Given the description of an element on the screen output the (x, y) to click on. 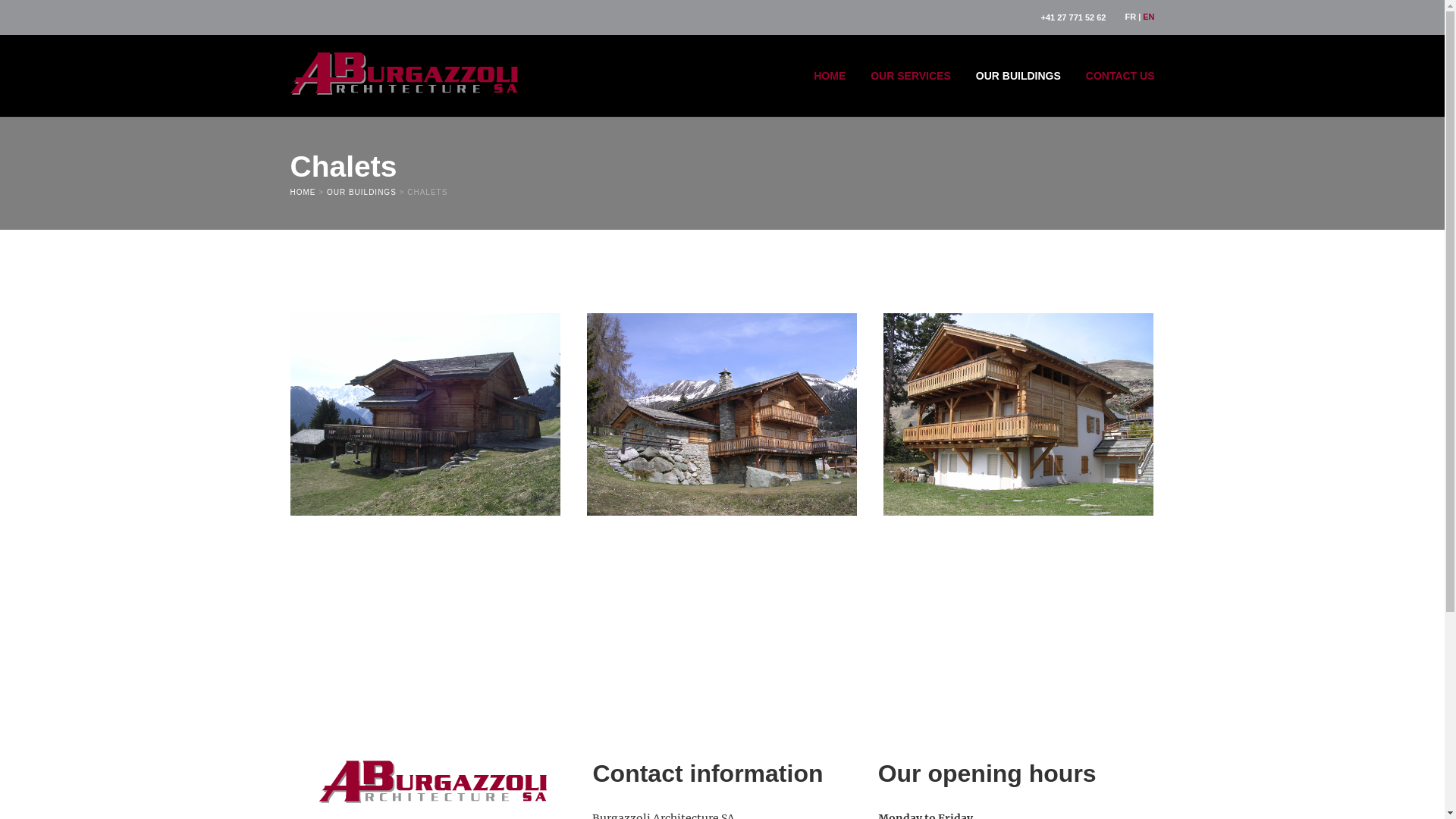
CONTACT US Element type: text (1114, 75)
HOME Element type: text (302, 192)
HOME Element type: text (829, 75)
+41 27 771 52 62 Element type: text (1073, 16)
EN Element type: text (1148, 16)
OUR BUILDINGS Element type: text (361, 192)
OUR SERVICES Element type: text (910, 75)
OUR BUILDINGS Element type: text (1018, 75)
Burgazzoli Architecture Element type: hover (403, 71)
FR Element type: text (1129, 16)
